Given the description of an element on the screen output the (x, y) to click on. 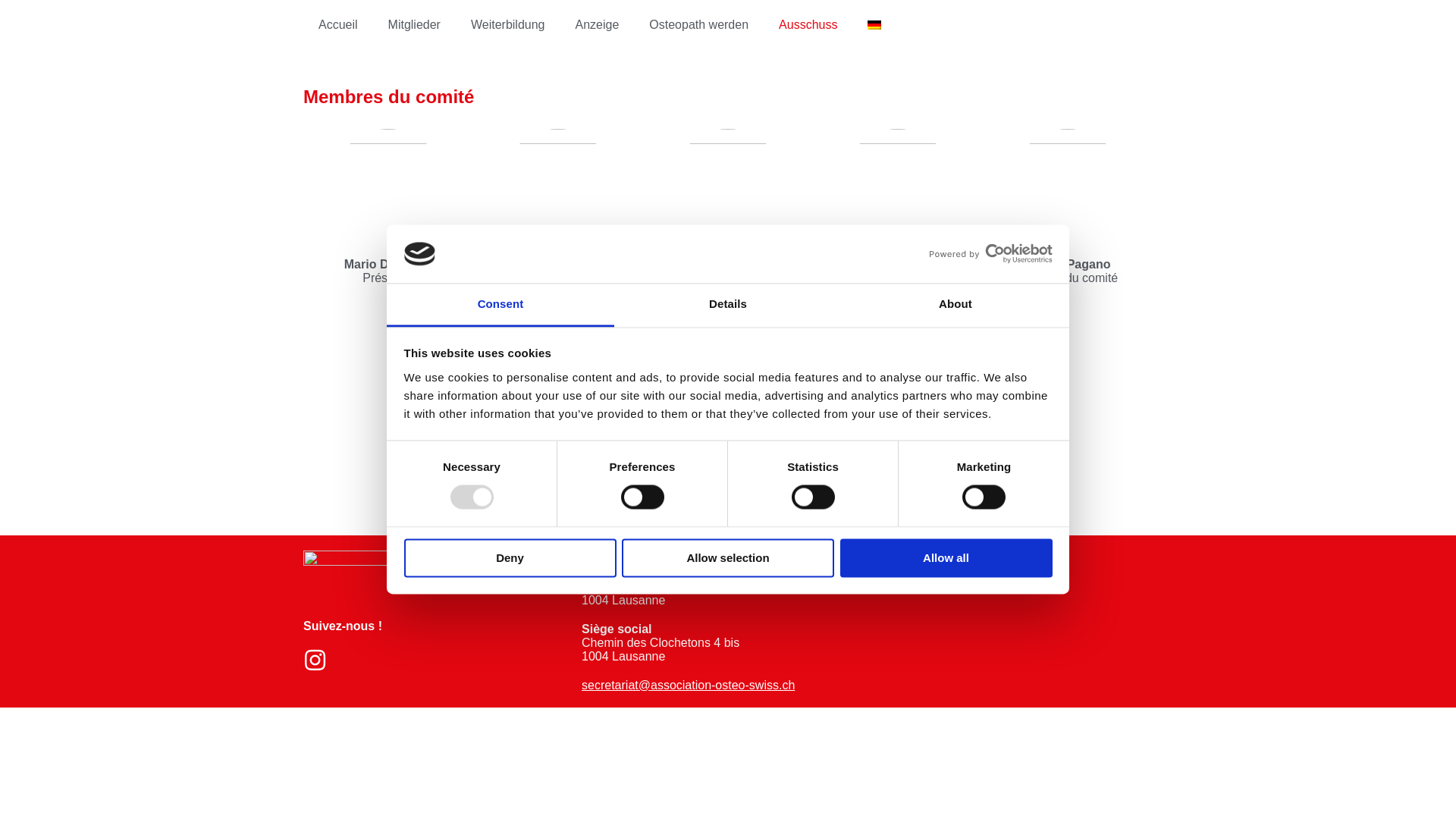
Anzeige Element type: text (596, 24)
About Element type: text (955, 304)
Weiterbildung Element type: text (507, 24)
Accueil Element type: text (338, 24)
Ausschuss Element type: text (807, 24)
Allow all Element type: text (946, 557)
Details Element type: text (727, 304)
Osteopath werden Element type: text (698, 24)
Mitglieder Element type: text (414, 24)
secretariat@association-osteo-swiss.ch Element type: text (687, 684)
Deny Element type: text (509, 557)
Allow selection Element type: text (727, 557)
Consent Element type: text (500, 304)
